Given the description of an element on the screen output the (x, y) to click on. 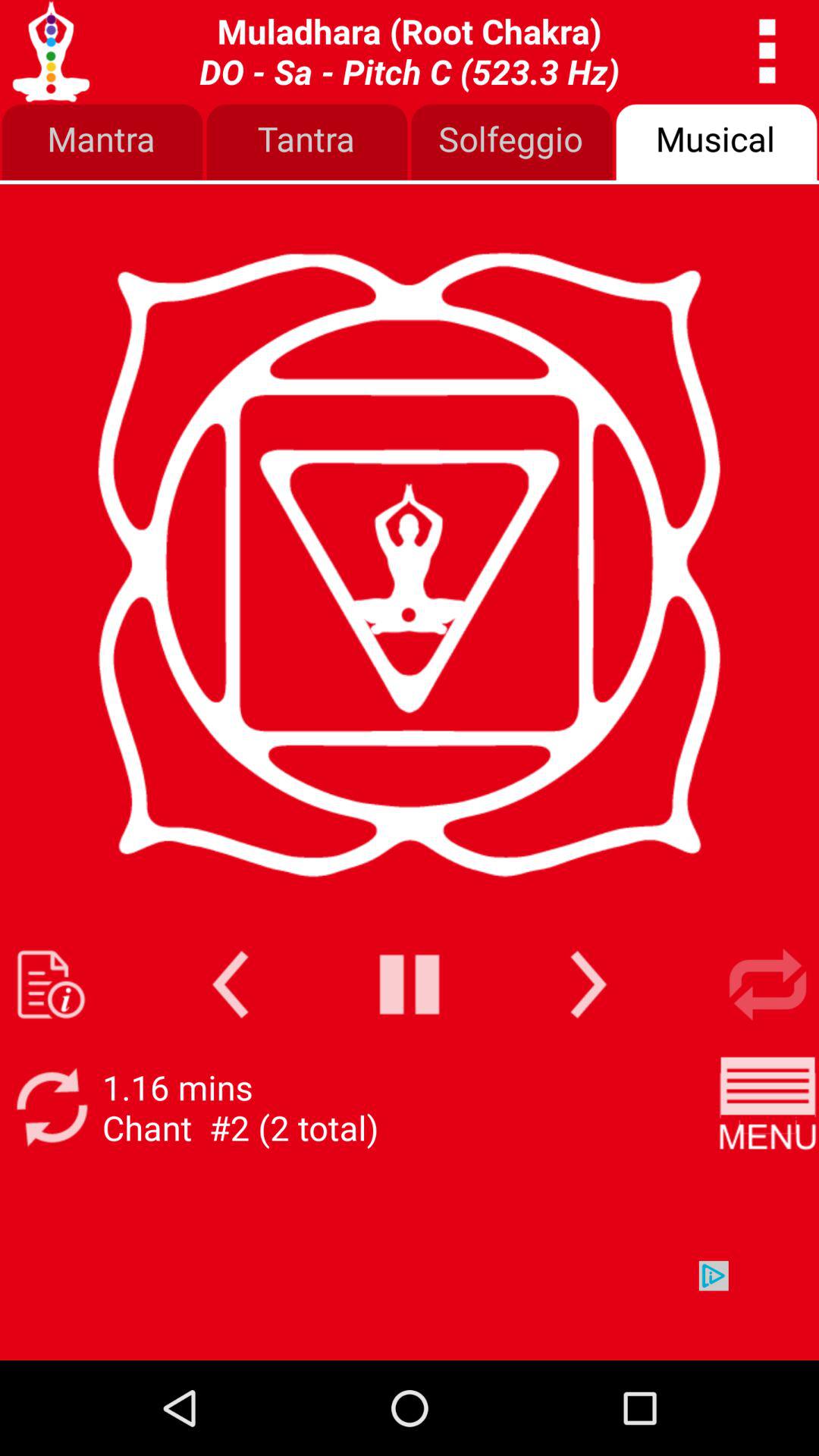
toggle next page (588, 984)
